Given the description of an element on the screen output the (x, y) to click on. 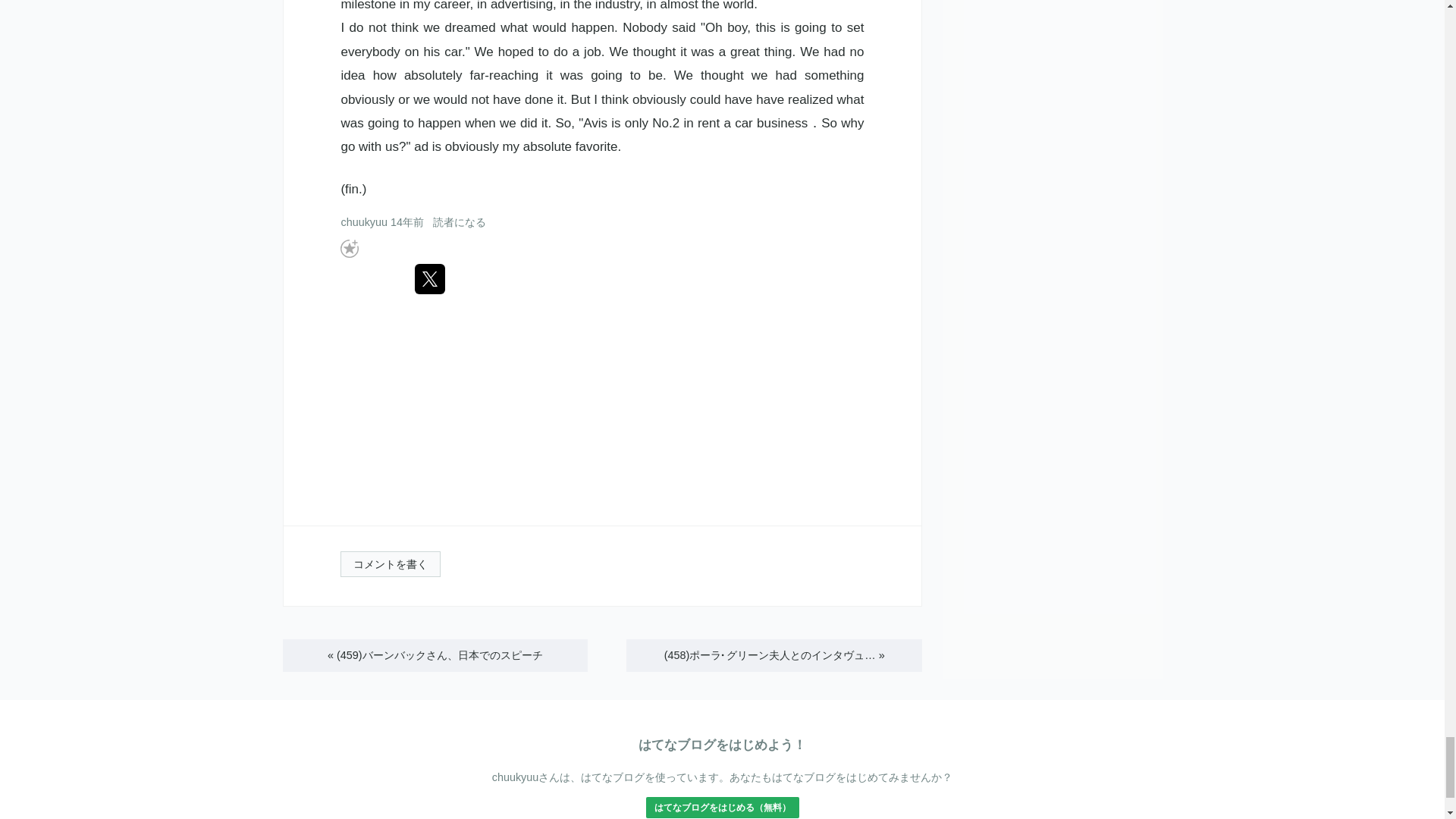
2009-09-02T09:00:30Z (406, 222)
